Given the description of an element on the screen output the (x, y) to click on. 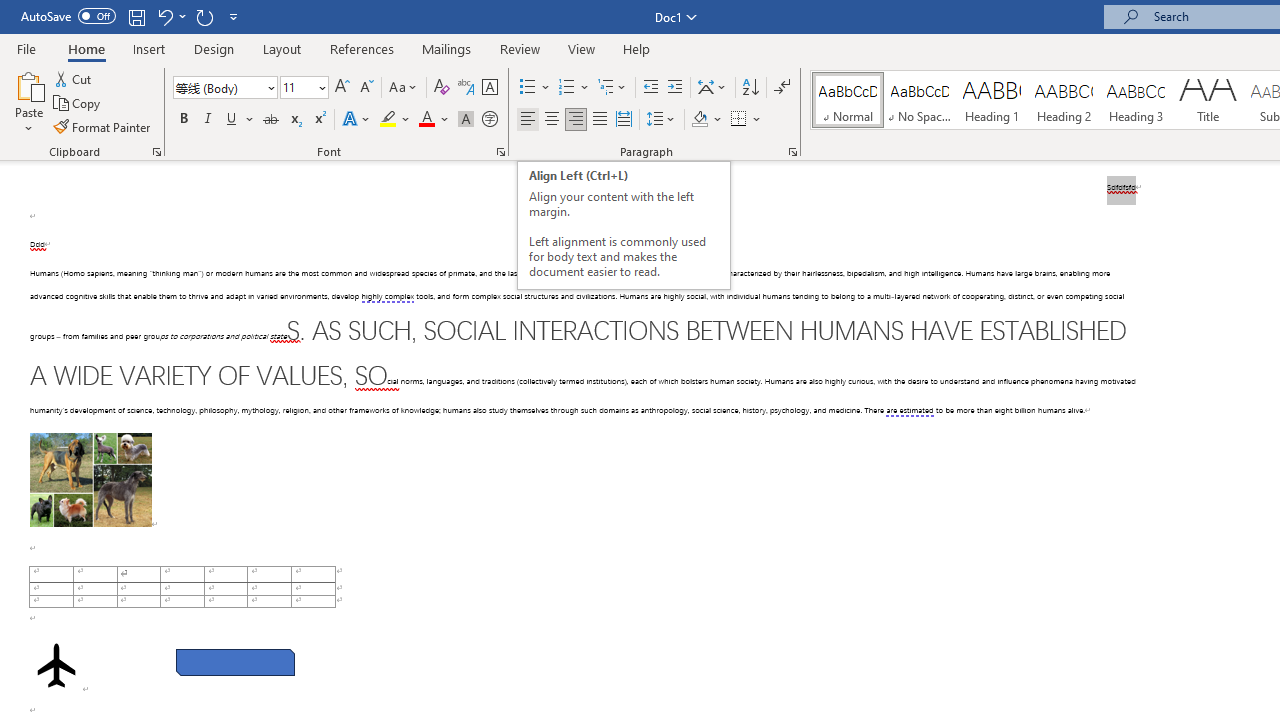
Repeat Paragraph Alignment (204, 15)
